Given the description of an element on the screen output the (x, y) to click on. 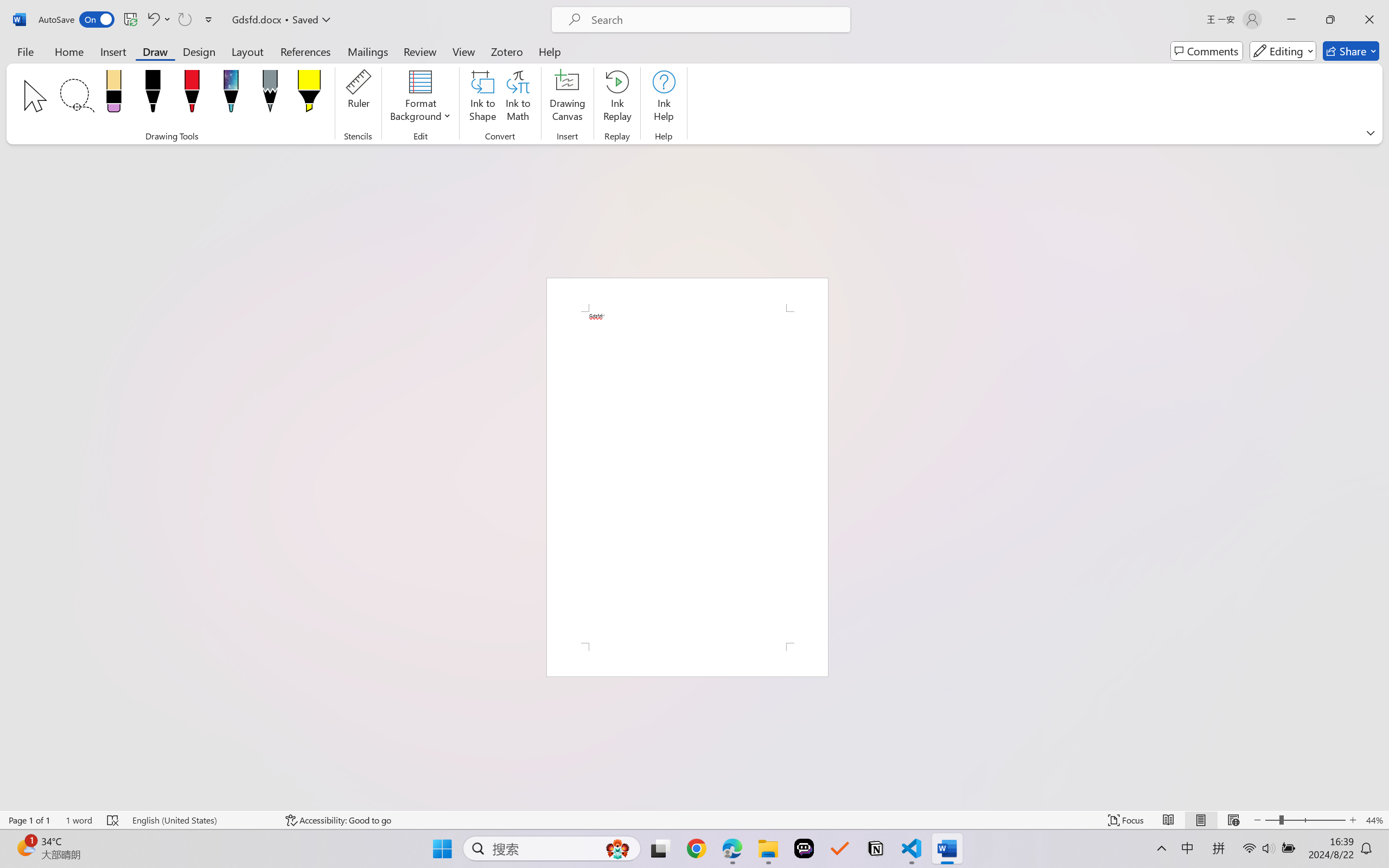
Page 1 content (686, 477)
Pen: Galaxy, 1 mm (230, 94)
Spelling and Grammar Check Errors (113, 819)
